Given the description of an element on the screen output the (x, y) to click on. 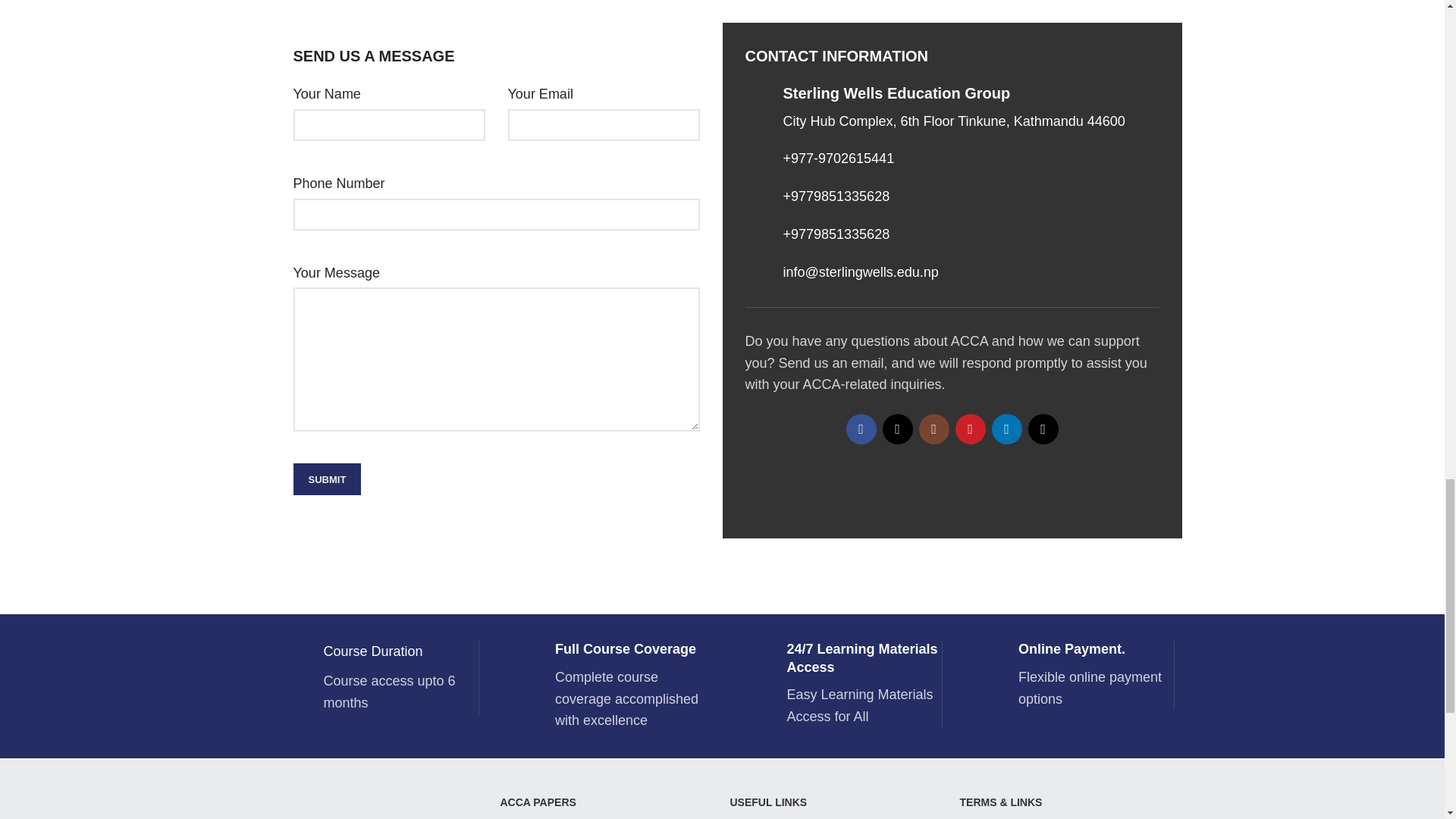
Submit (326, 479)
